Given the description of an element on the screen output the (x, y) to click on. 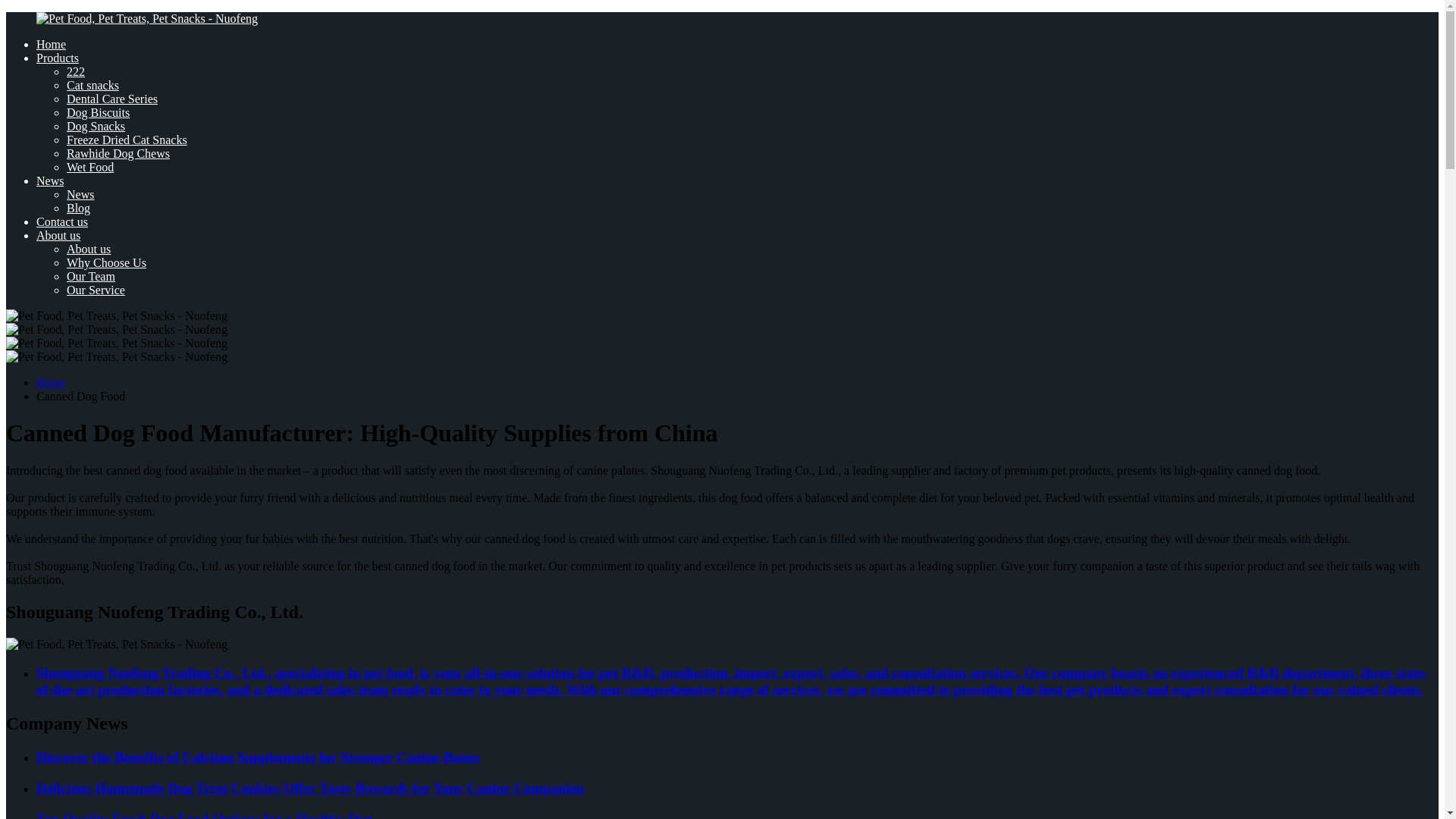
Contact us (61, 221)
Dental Care Series (111, 98)
Our Service (95, 289)
Freeze Dried Cat Snacks (126, 139)
Products (57, 57)
Wet Food (89, 166)
Rawhide Dog Chews (118, 153)
About us (58, 235)
News (80, 194)
222 (75, 71)
About us (88, 248)
Dog Biscuits (97, 112)
Our Team (90, 276)
Dog Snacks (95, 125)
Why Choose Us (106, 262)
